Given the description of an element on the screen output the (x, y) to click on. 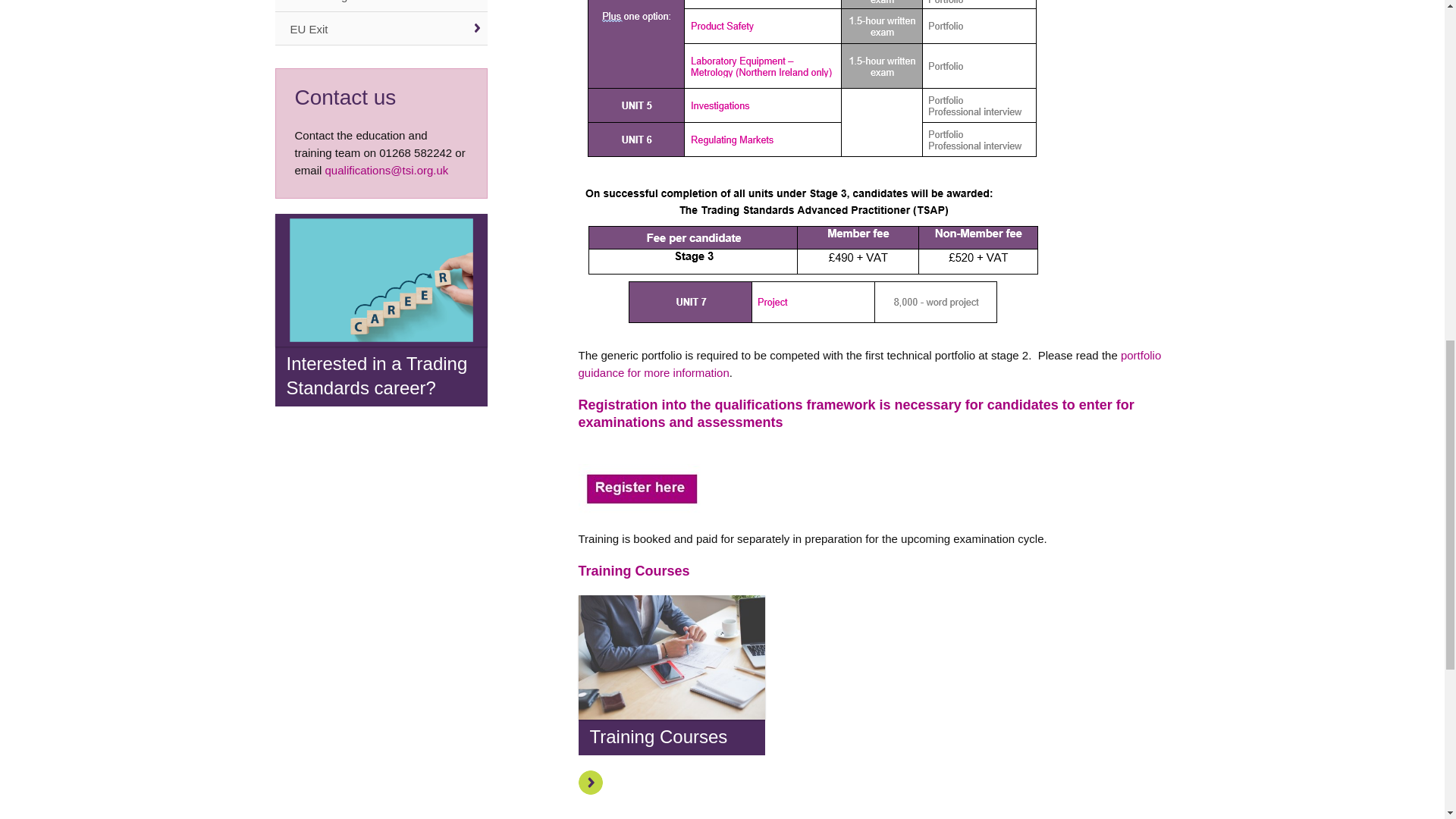
CPCF registration (873, 496)
portfolio guidance (869, 363)
